Given the description of an element on the screen output the (x, y) to click on. 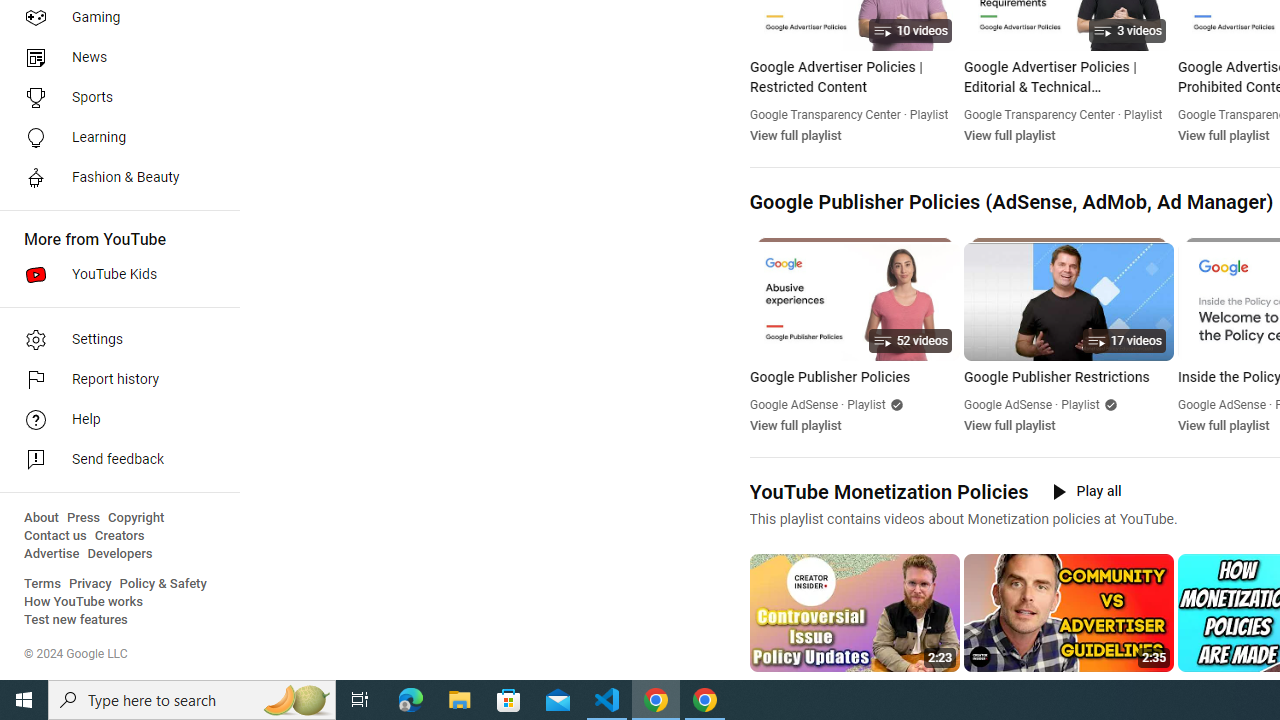
Verified (1108, 403)
Sports (113, 97)
News (113, 57)
Press (83, 518)
View full playlist (1222, 425)
Google Advertiser Policies | Restricted Content (854, 77)
Report history (113, 380)
Settings (113, 339)
Fashion & Beauty (113, 177)
Help (113, 419)
How YouTube works (83, 602)
Google Publisher Policies (854, 377)
Action menu (1160, 687)
Creators (118, 536)
